Given the description of an element on the screen output the (x, y) to click on. 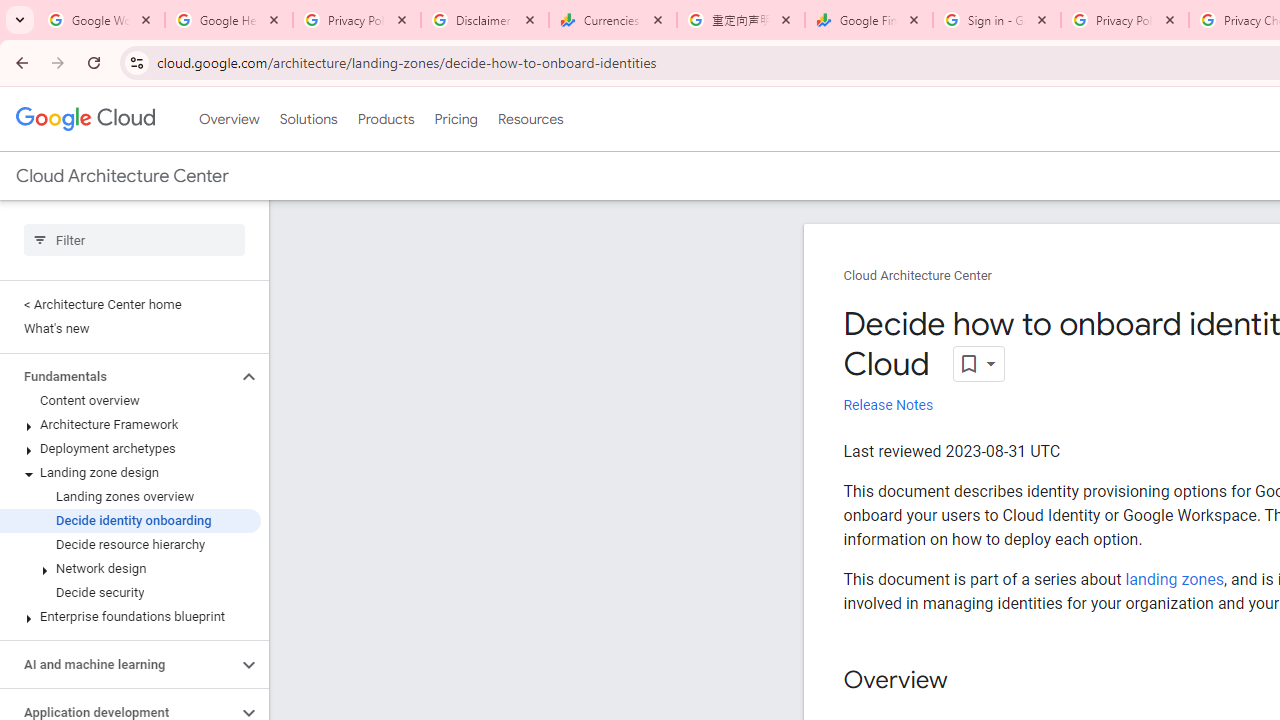
Google Cloud (84, 118)
Landing zone design (130, 472)
Decide identity onboarding (130, 520)
Sign in - Google Accounts (997, 20)
Release Notes (888, 406)
Cloud Architecture Center (917, 276)
Enterprise foundations blueprint (130, 616)
Products (385, 119)
Decide security (130, 592)
Network design (130, 569)
